Given the description of an element on the screen output the (x, y) to click on. 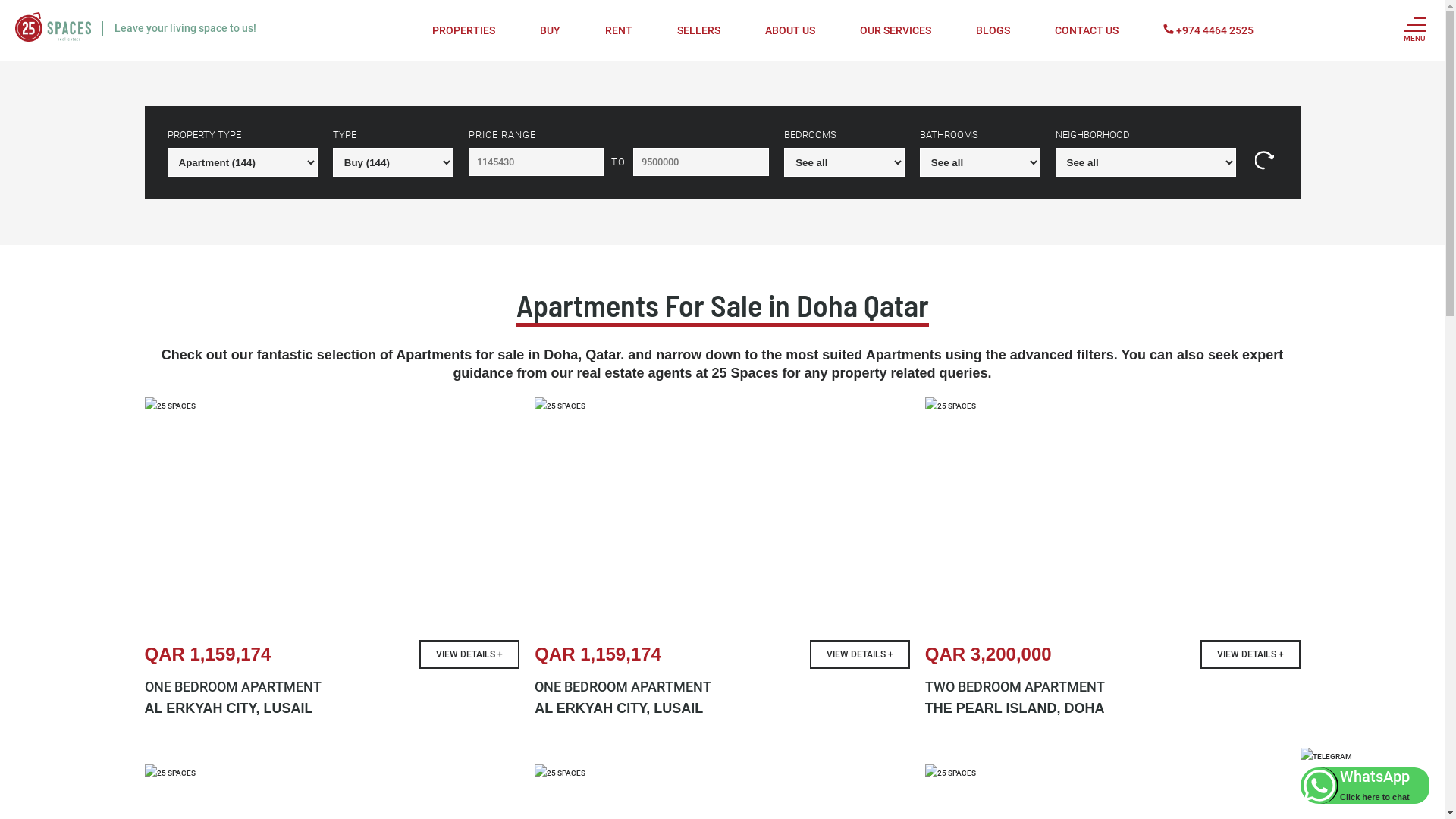
VIEW DETAILS + Element type: text (1249, 654)
SELLERS Element type: text (698, 29)
PROPERTIES Element type: text (463, 29)
OUR SERVICES Element type: text (895, 29)
VIEW DETAILS + Element type: text (469, 654)
CONTACT US Element type: text (1086, 29)
RENT Element type: text (618, 29)
ONE BEDROOM APARTMENT Element type: text (331, 686)
THE PEARL ISLAND, DOHA Element type: text (1112, 707)
ABOUT US Element type: text (790, 29)
 +974 4464 2525 Element type: text (1213, 29)
WhatsApp Click here to chat Element type: text (1364, 785)
telegram Element type: hover (1326, 756)
VIEW DETAILS + Element type: text (859, 654)
AL ERKYAH CITY, LUSAIL Element type: text (331, 707)
AL ERKYAH CITY, LUSAIL Element type: text (722, 707)
TWO BEDROOM APARTMENT Element type: text (1112, 686)
BUY Element type: text (549, 29)
ONE BEDROOM APARTMENT Element type: text (722, 686)
BLOGS Element type: text (992, 29)
